Given the description of an element on the screen output the (x, y) to click on. 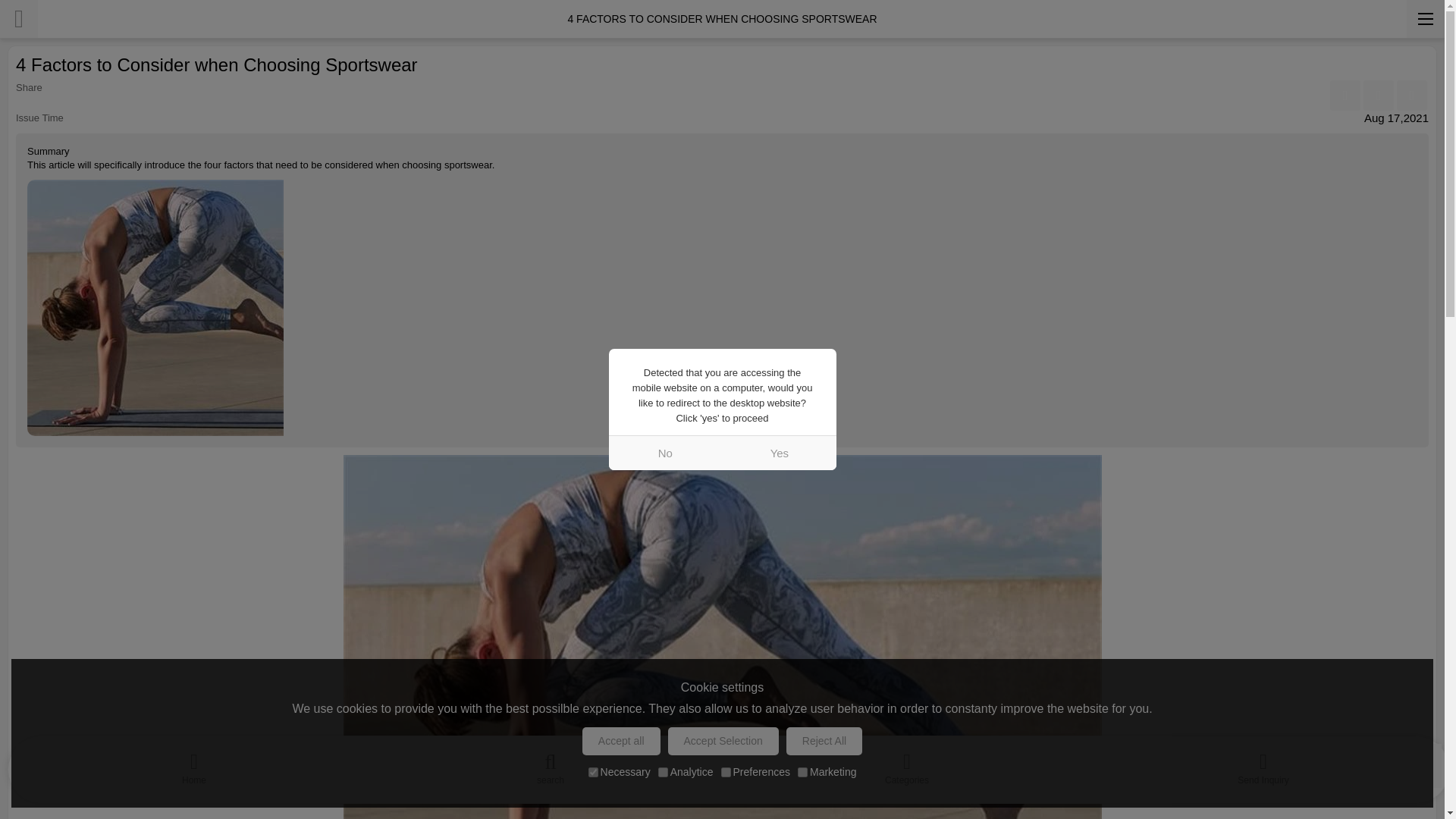
on (725, 772)
Accept all (621, 741)
Reject All (823, 741)
Categories (906, 765)
Send Inquiry (1262, 765)
search (550, 765)
Categories (906, 765)
on (593, 772)
Home (194, 765)
on (663, 772)
search (550, 765)
Share Twitter (1411, 95)
Home (194, 765)
Share Linkedin (1377, 95)
Share Facebook (1344, 95)
